Given the description of an element on the screen output the (x, y) to click on. 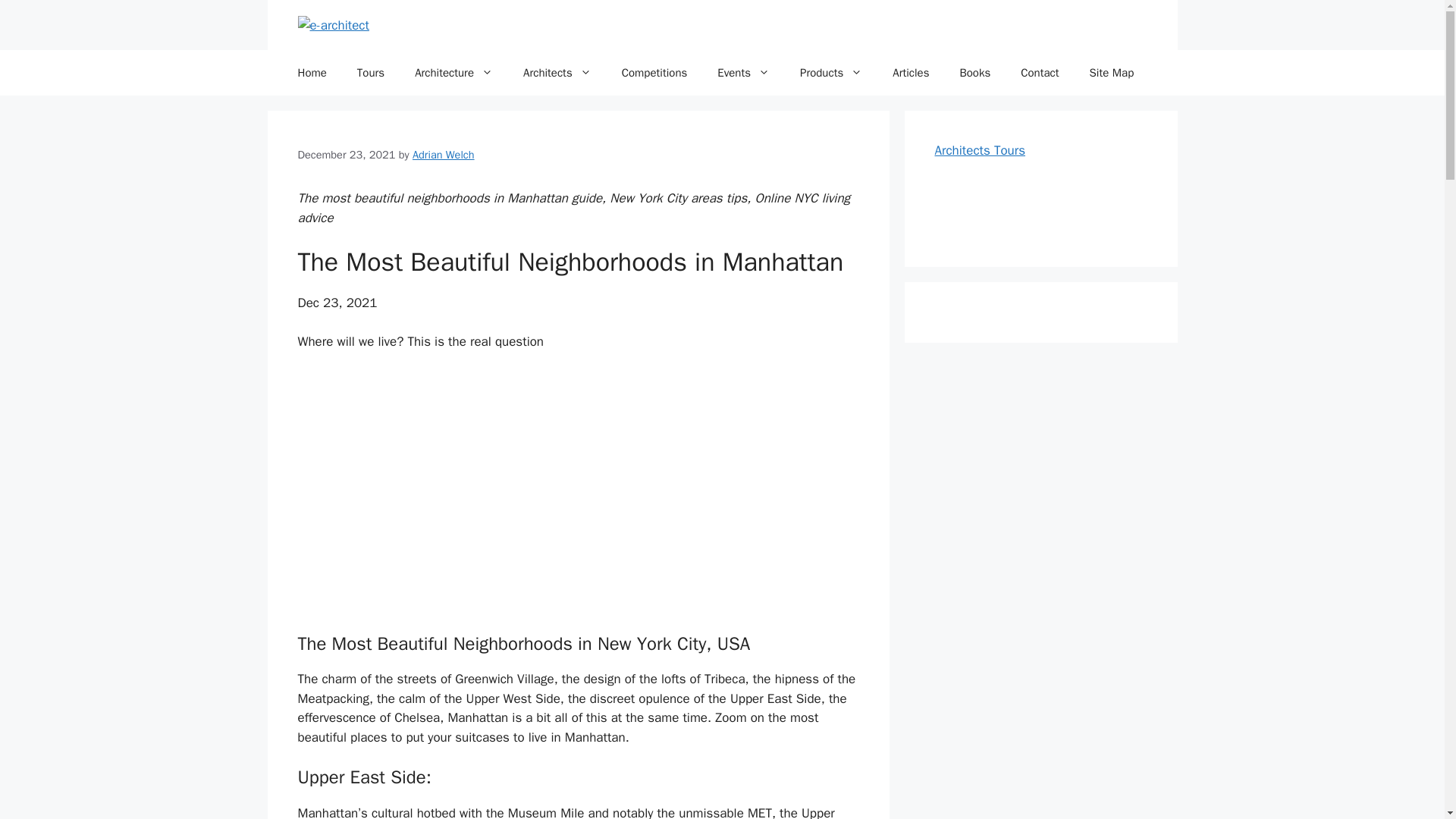
Products (830, 72)
Books (974, 72)
Architects (557, 72)
Tours (370, 72)
Architecture (453, 72)
Home (311, 72)
Home (311, 72)
Contact (1040, 72)
Architects Tours (979, 150)
Adrian Welch (443, 154)
Events (742, 72)
Site Map (1112, 72)
View all posts by Adrian Welch (443, 154)
Articles (910, 72)
Competitions (655, 72)
